Given the description of an element on the screen output the (x, y) to click on. 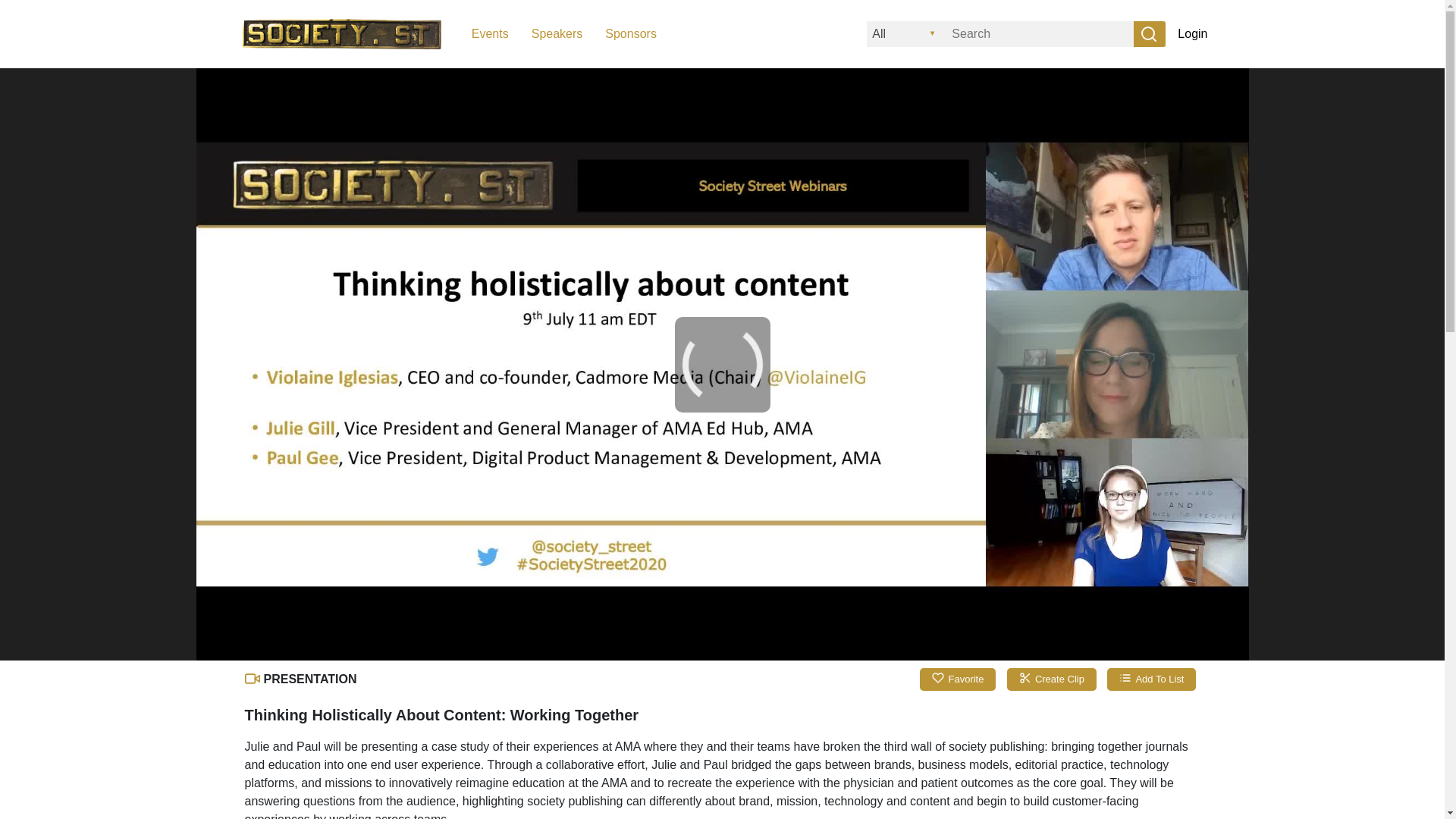
Speakers (557, 34)
Login (1192, 33)
Events (489, 34)
Sponsors (630, 34)
